Given the description of an element on the screen output the (x, y) to click on. 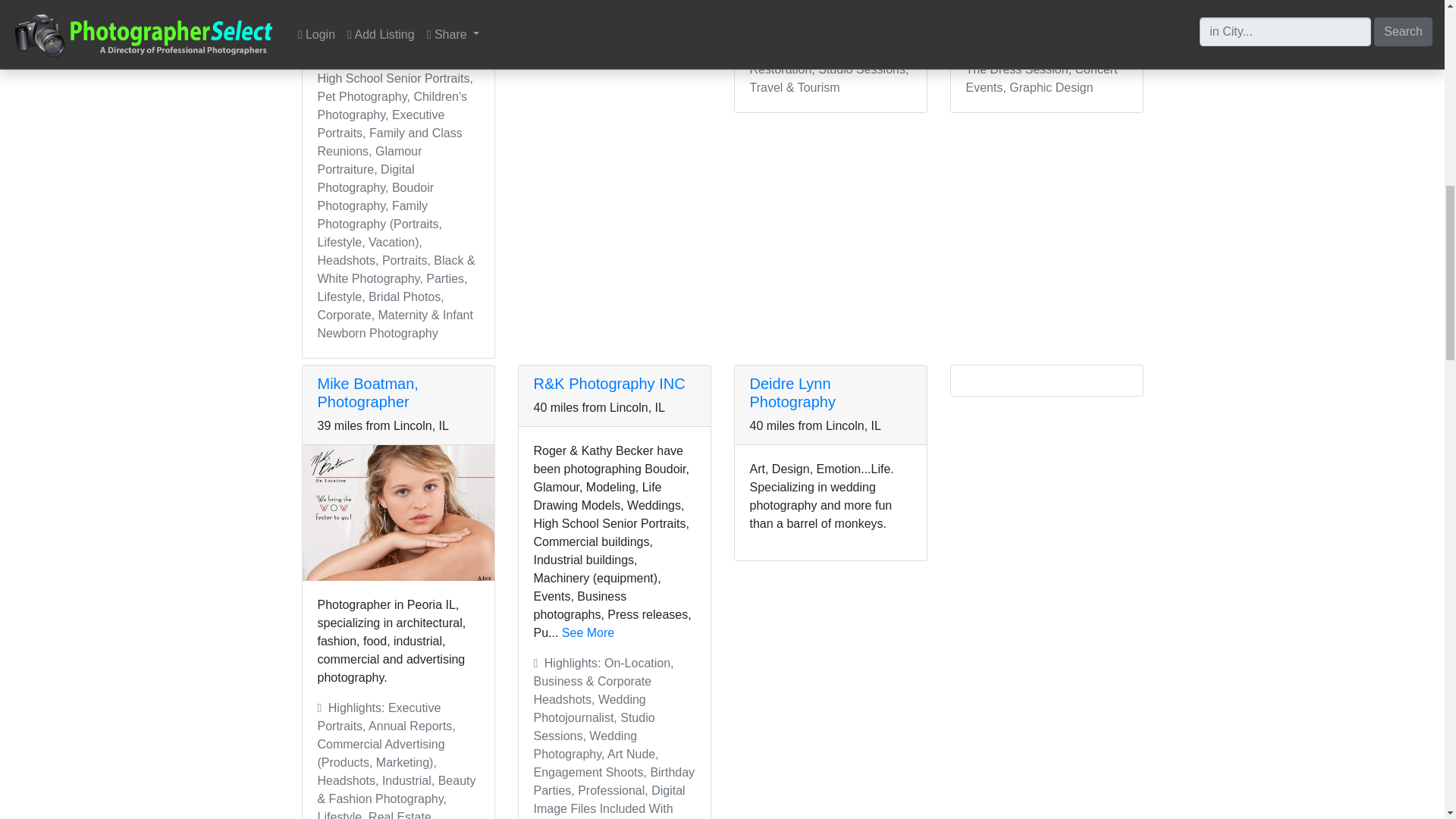
Mike Boatman, Photographer (367, 392)
Deidre Lynn Photography (791, 392)
See More (588, 632)
